Given the description of an element on the screen output the (x, y) to click on. 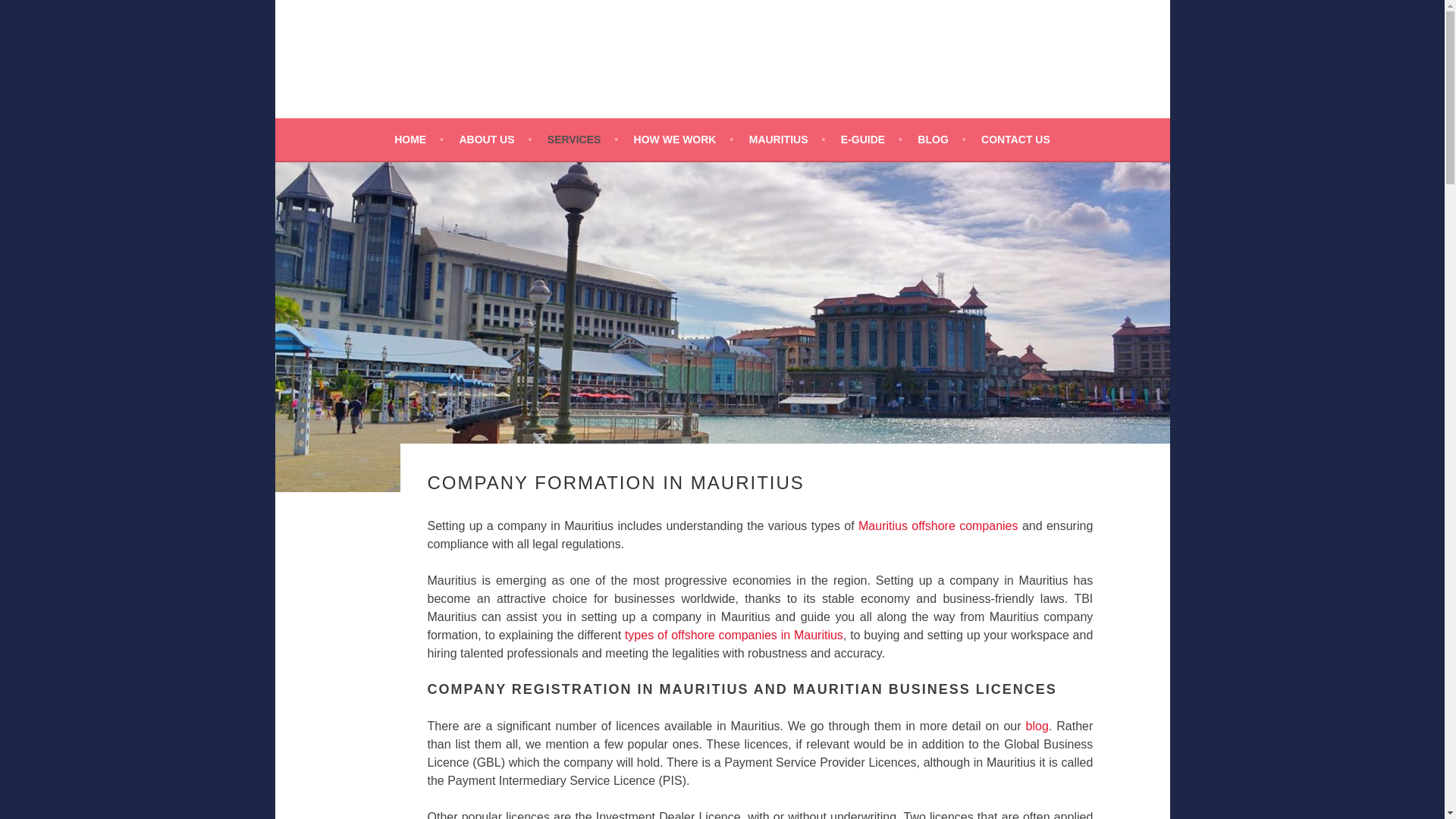
SERVICES (582, 139)
types of offshore companies in Mauritius (732, 634)
blog (1037, 725)
MAURITIUS (787, 139)
TBI MAURITIUS (385, 299)
ABOUT US (494, 139)
CONTACT US (1015, 139)
Mauritius offshore companies (938, 525)
TBI Mauritius (385, 299)
HOW WE WORK (683, 139)
E-GUIDE (871, 139)
HOME (419, 139)
BLOG (941, 139)
